Given the description of an element on the screen output the (x, y) to click on. 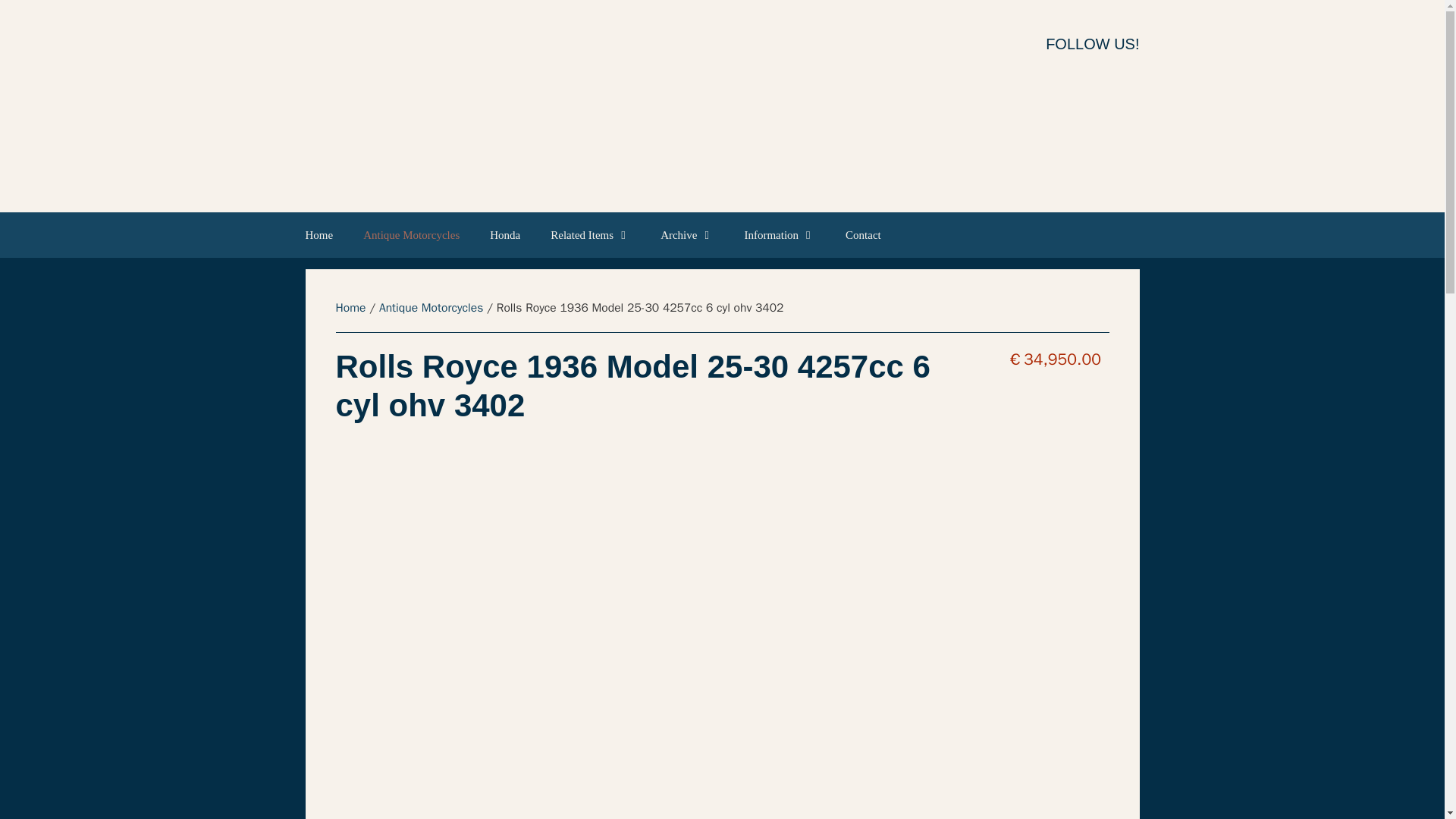
Yesterdays (675, 106)
Information (779, 234)
Home (325, 234)
Home (349, 307)
Antique Motorcycles (430, 307)
Antique Motorcycles (410, 234)
Honda (504, 234)
Related Items (590, 234)
Contact (862, 234)
Yesterdays (675, 105)
Archive (687, 234)
